Given the description of an element on the screen output the (x, y) to click on. 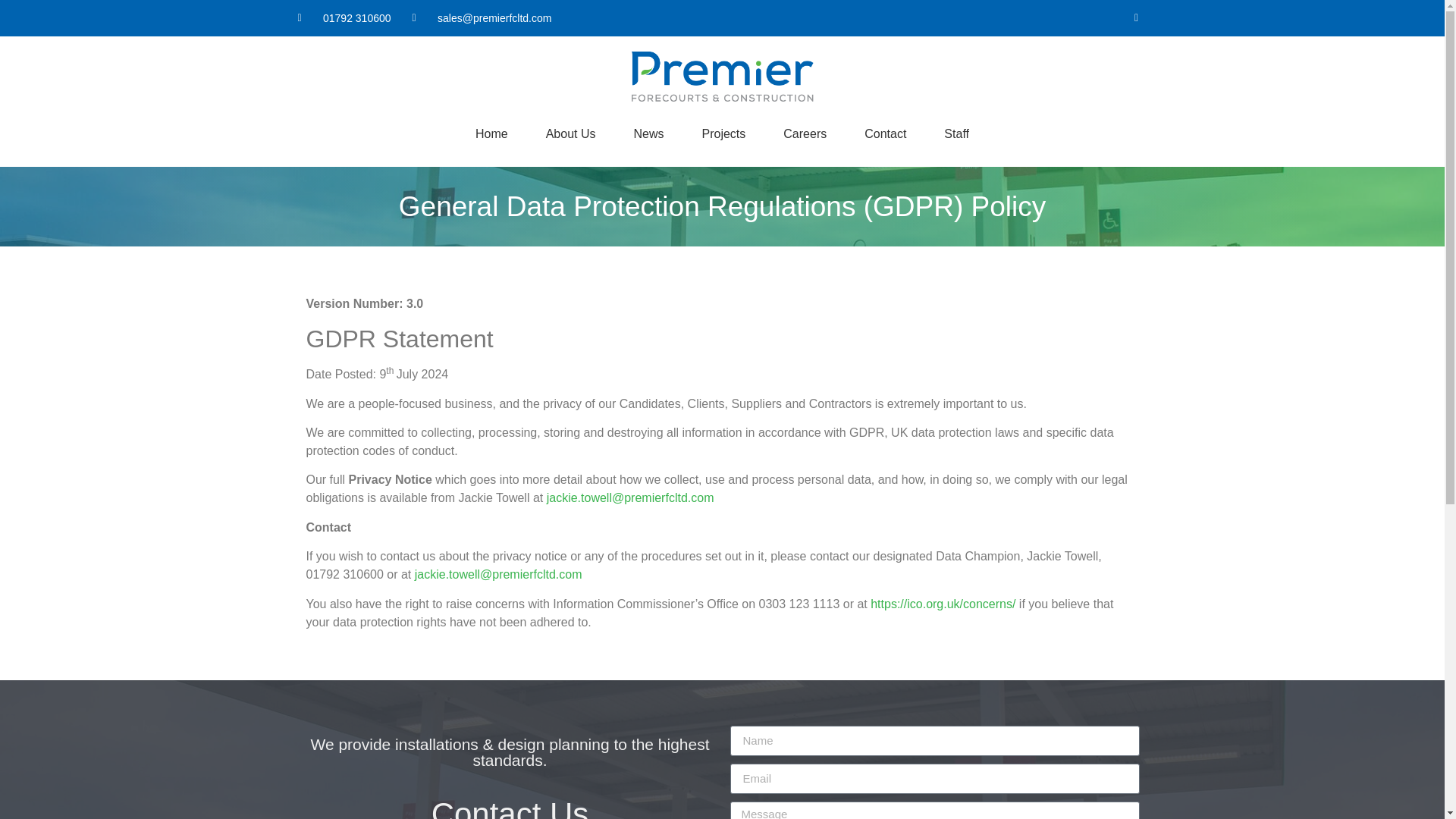
Staff (956, 134)
About Us (570, 134)
01792 310600 (343, 18)
Careers (804, 134)
Projects (723, 134)
News (648, 134)
Home (492, 134)
Contact (884, 134)
